Given the description of an element on the screen output the (x, y) to click on. 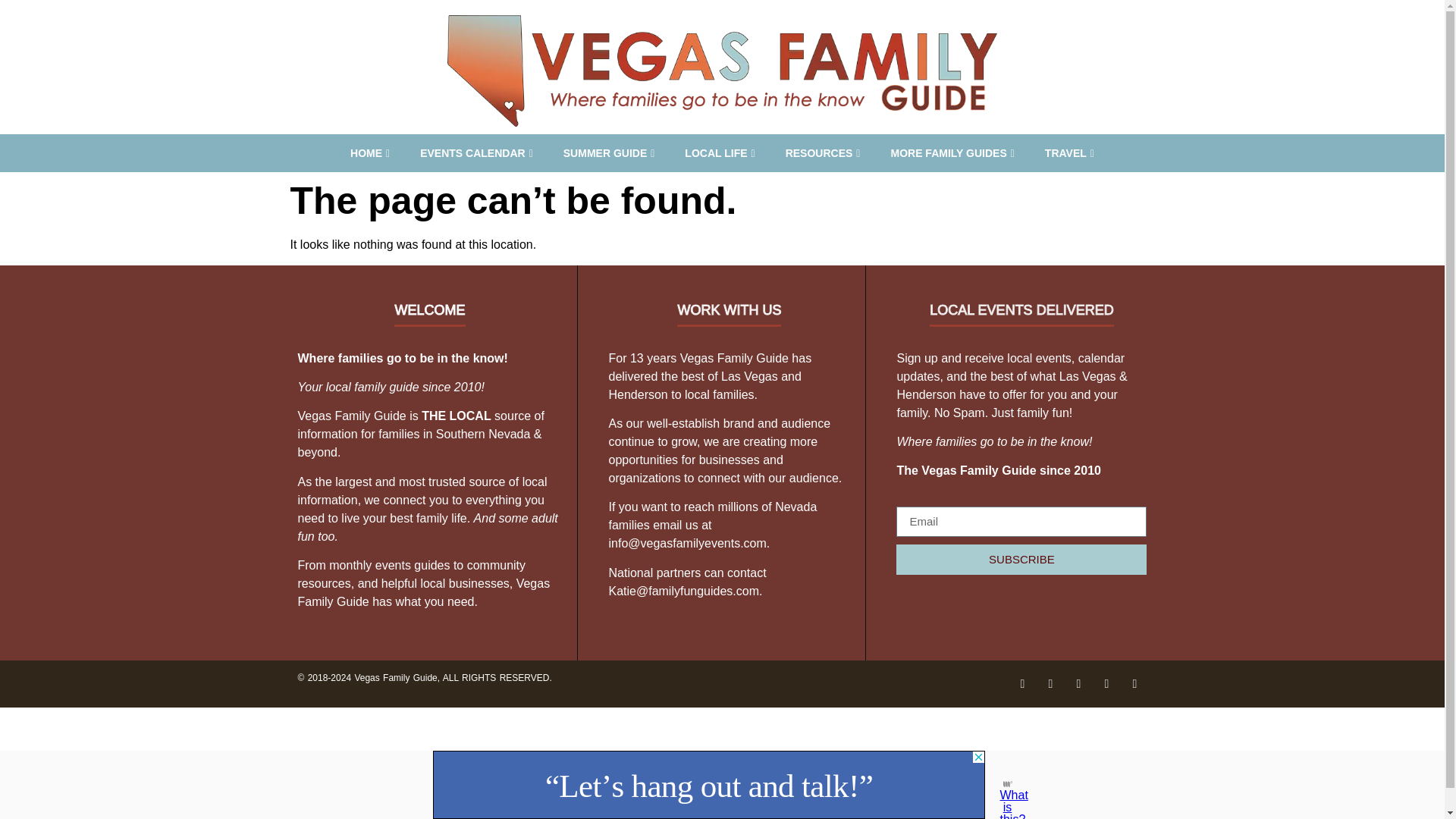
SUMMER GUIDE (608, 152)
3rd party ad content (708, 785)
LOCAL LIFE (719, 152)
EVENTS CALENDAR (476, 152)
HOME (369, 152)
